Given the description of an element on the screen output the (x, y) to click on. 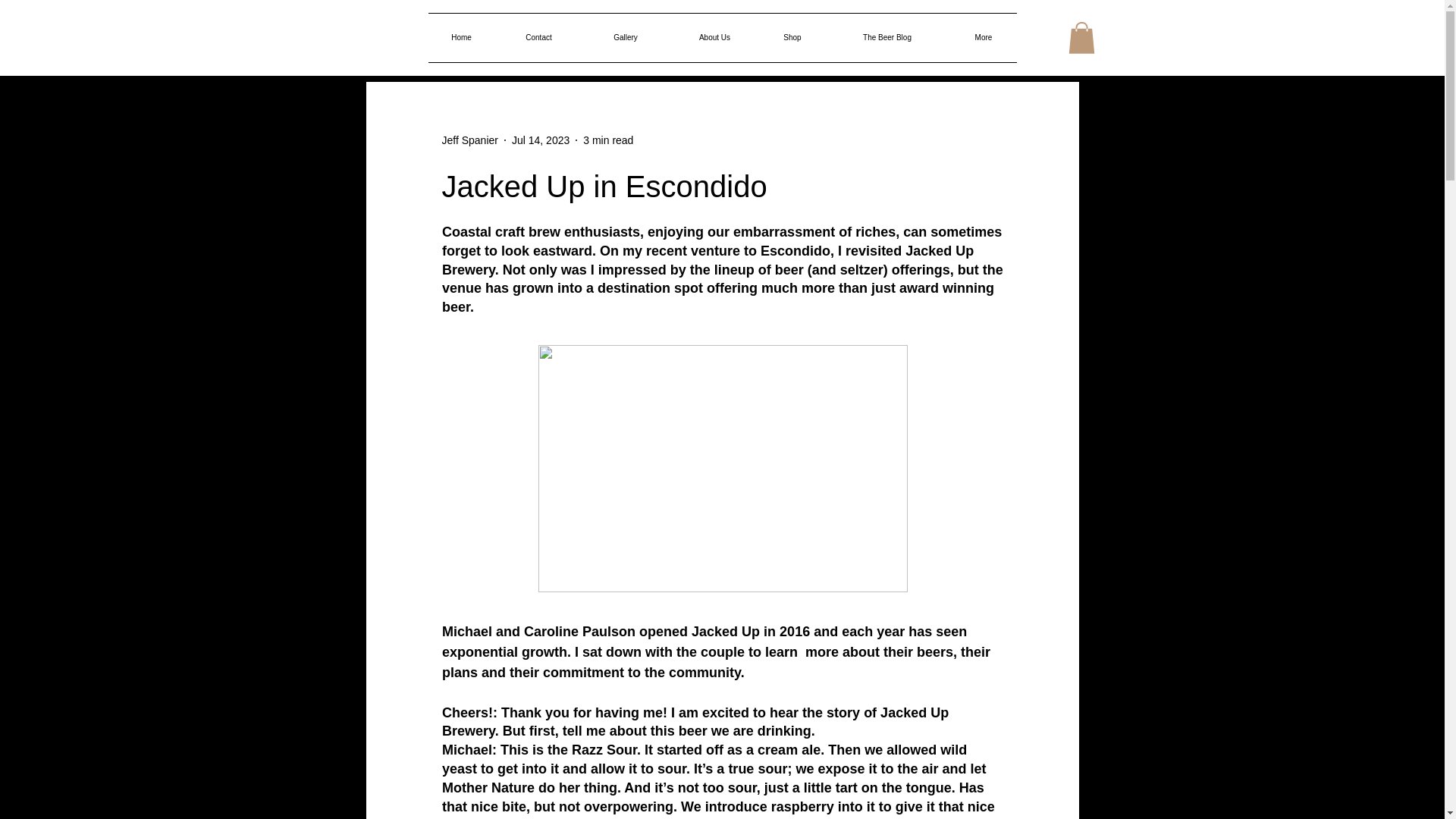
Gallery (625, 37)
Jeff Spanier (469, 139)
Shop (792, 37)
Jeff Spanier (469, 139)
About Us (714, 37)
Home (461, 37)
3 min read (608, 139)
All Posts (385, 36)
The Beer Blog (887, 37)
Contact (538, 37)
Jul 14, 2023 (540, 139)
